Given the description of an element on the screen output the (x, y) to click on. 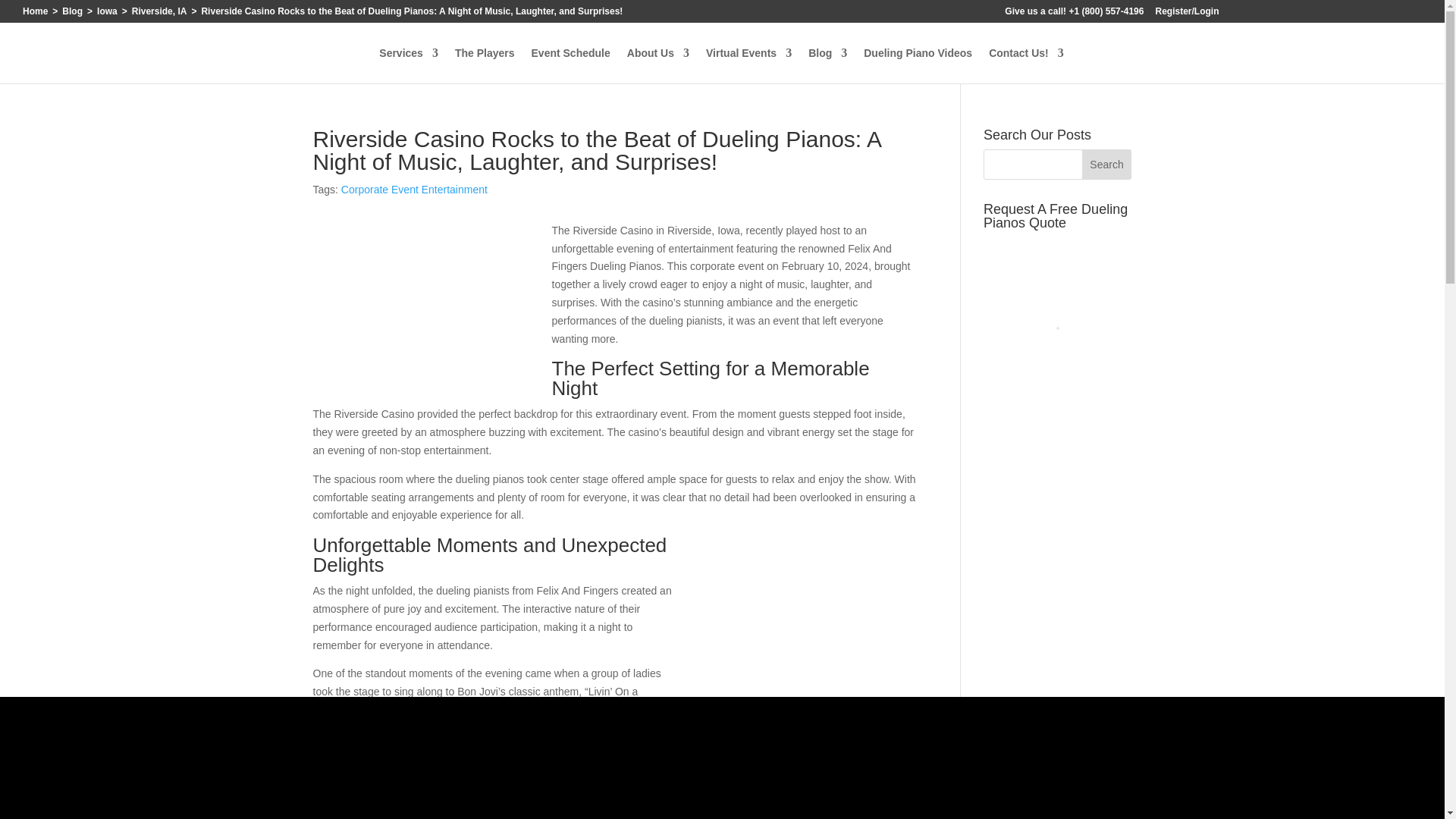
Event Schedule (570, 65)
Blog (72, 10)
Services (408, 65)
Search (1106, 164)
Riverside, IA (159, 10)
Iowa (107, 10)
Home (35, 10)
Blog (827, 65)
Contact Us! (1026, 65)
About Us (657, 65)
Dueling Piano Videos (917, 65)
The Players (484, 65)
Virtual Events (749, 65)
